Given the description of an element on the screen output the (x, y) to click on. 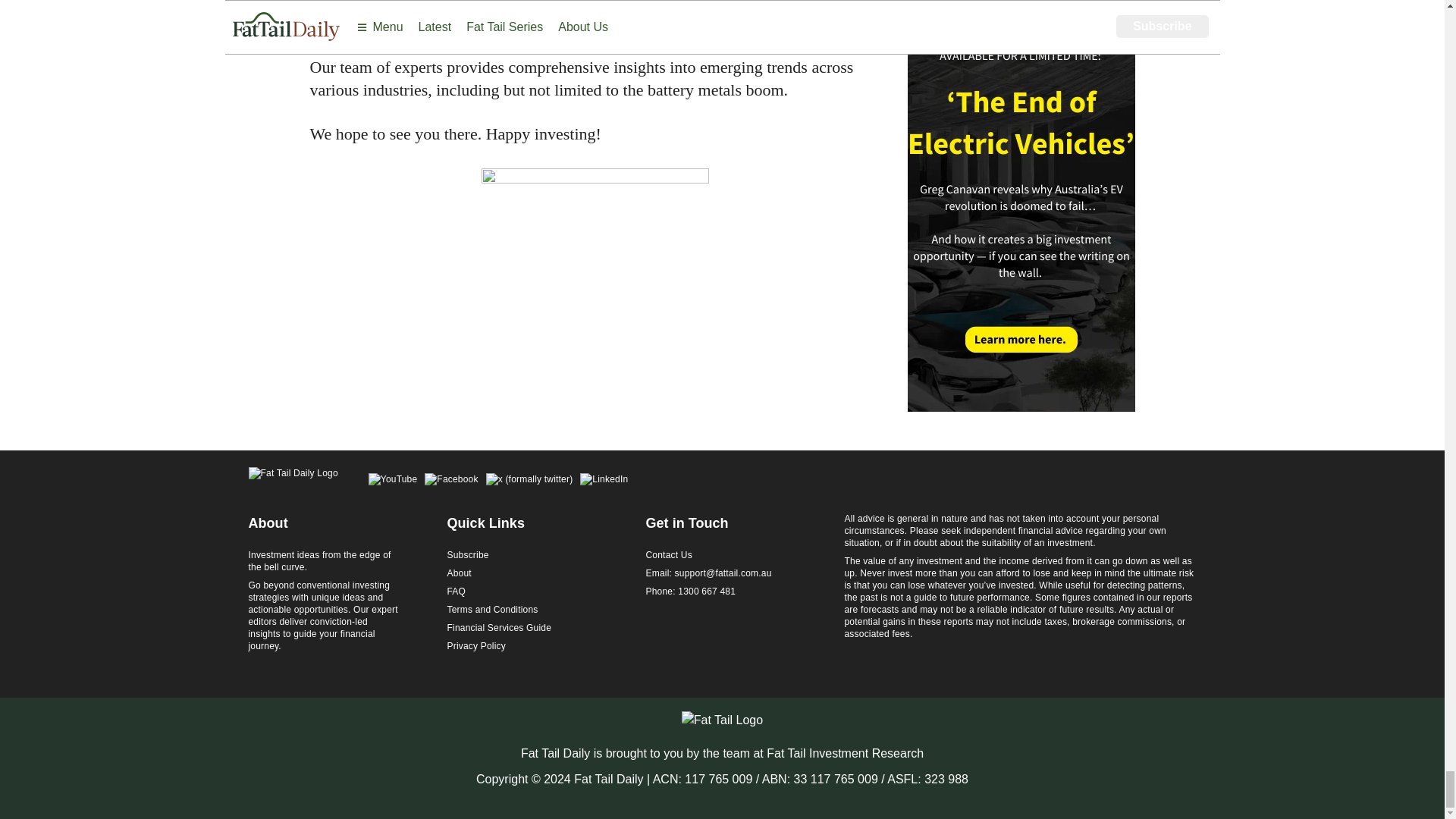
Fat Tail Daily Home (292, 480)
